Given the description of an element on the screen output the (x, y) to click on. 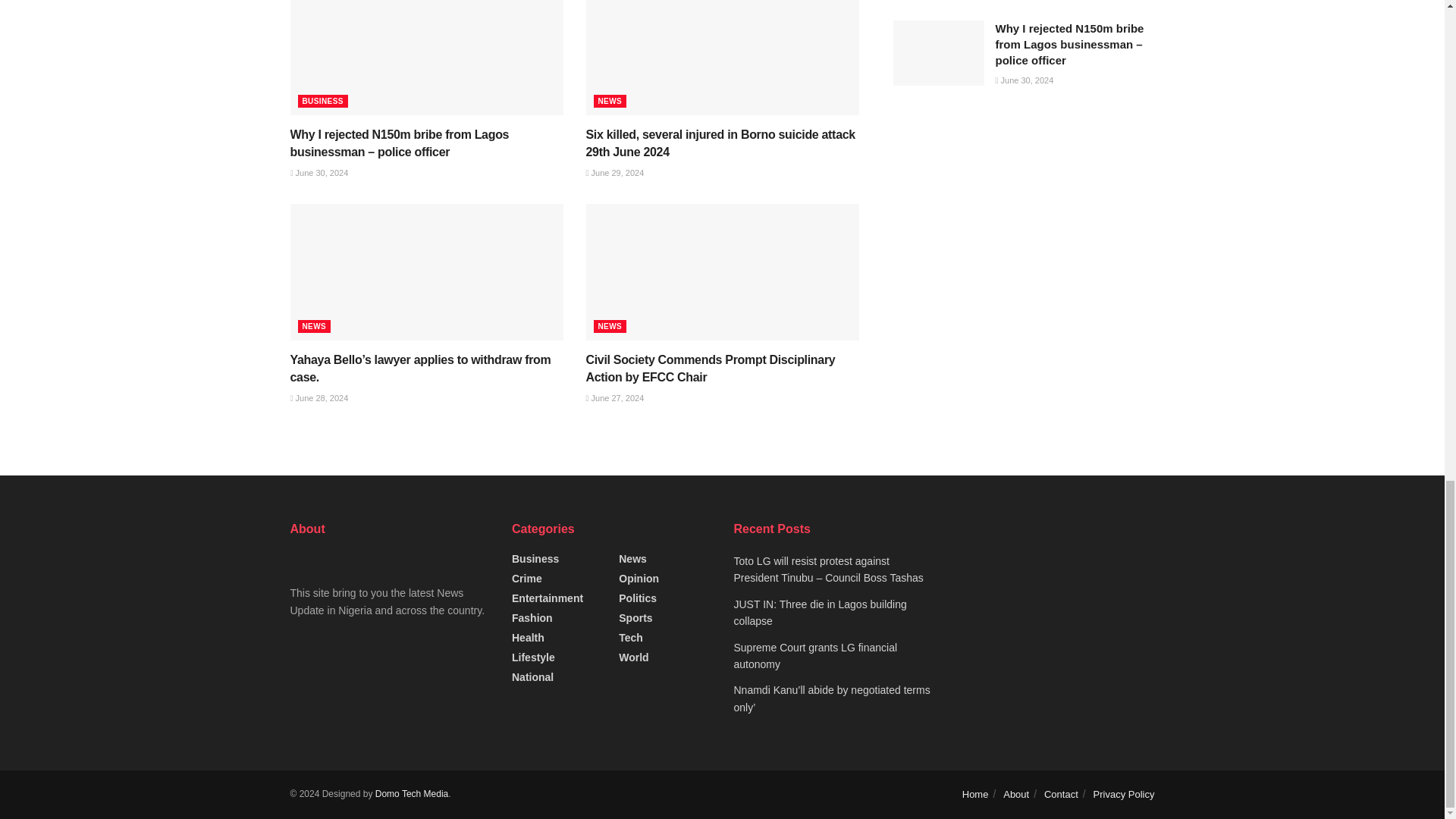
Domo Tech Media (411, 793)
